Given the description of an element on the screen output the (x, y) to click on. 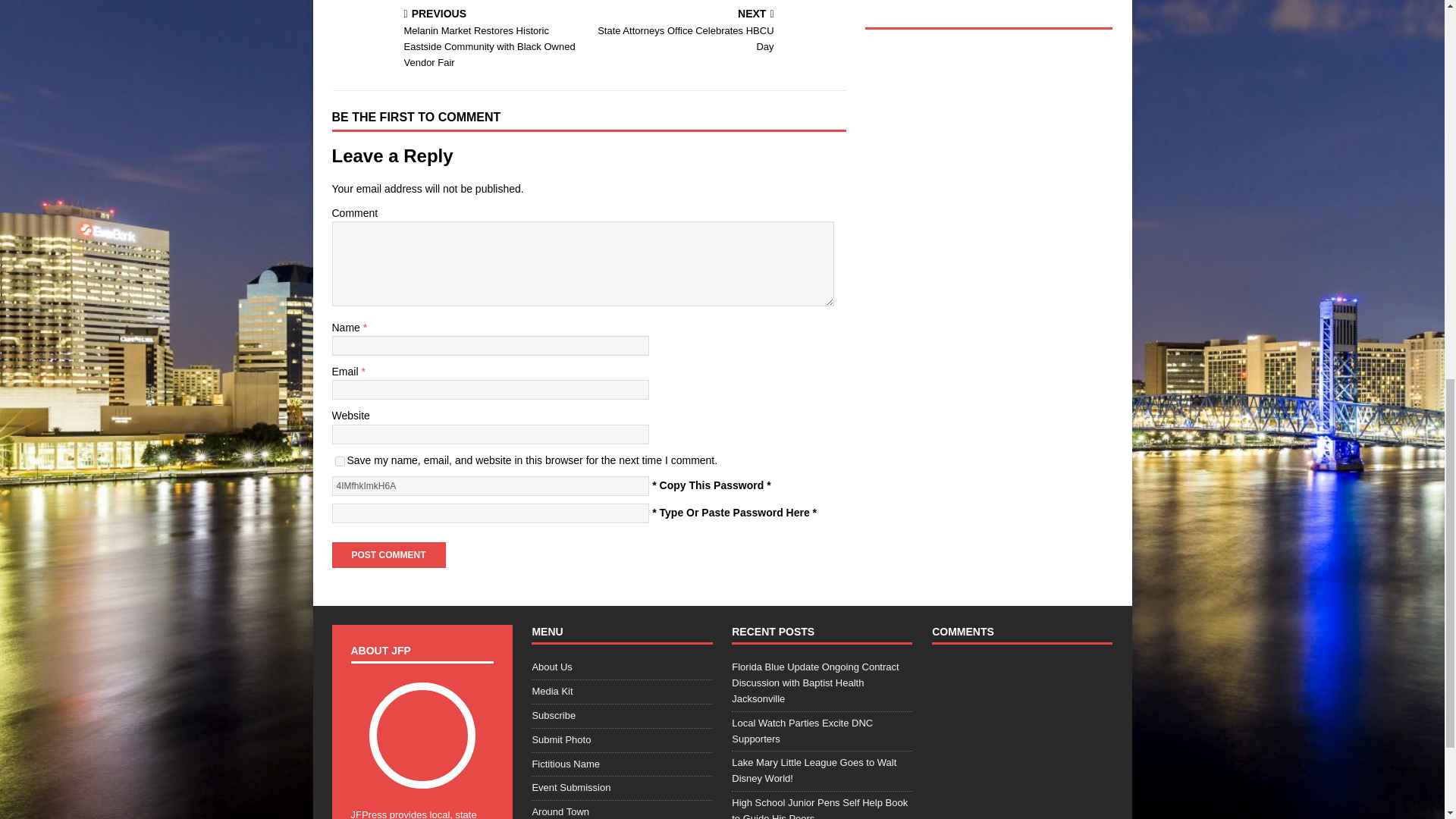
4IMfhkImkH6A (490, 485)
Post Comment (388, 555)
yes (339, 461)
